Given the description of an element on the screen output the (x, y) to click on. 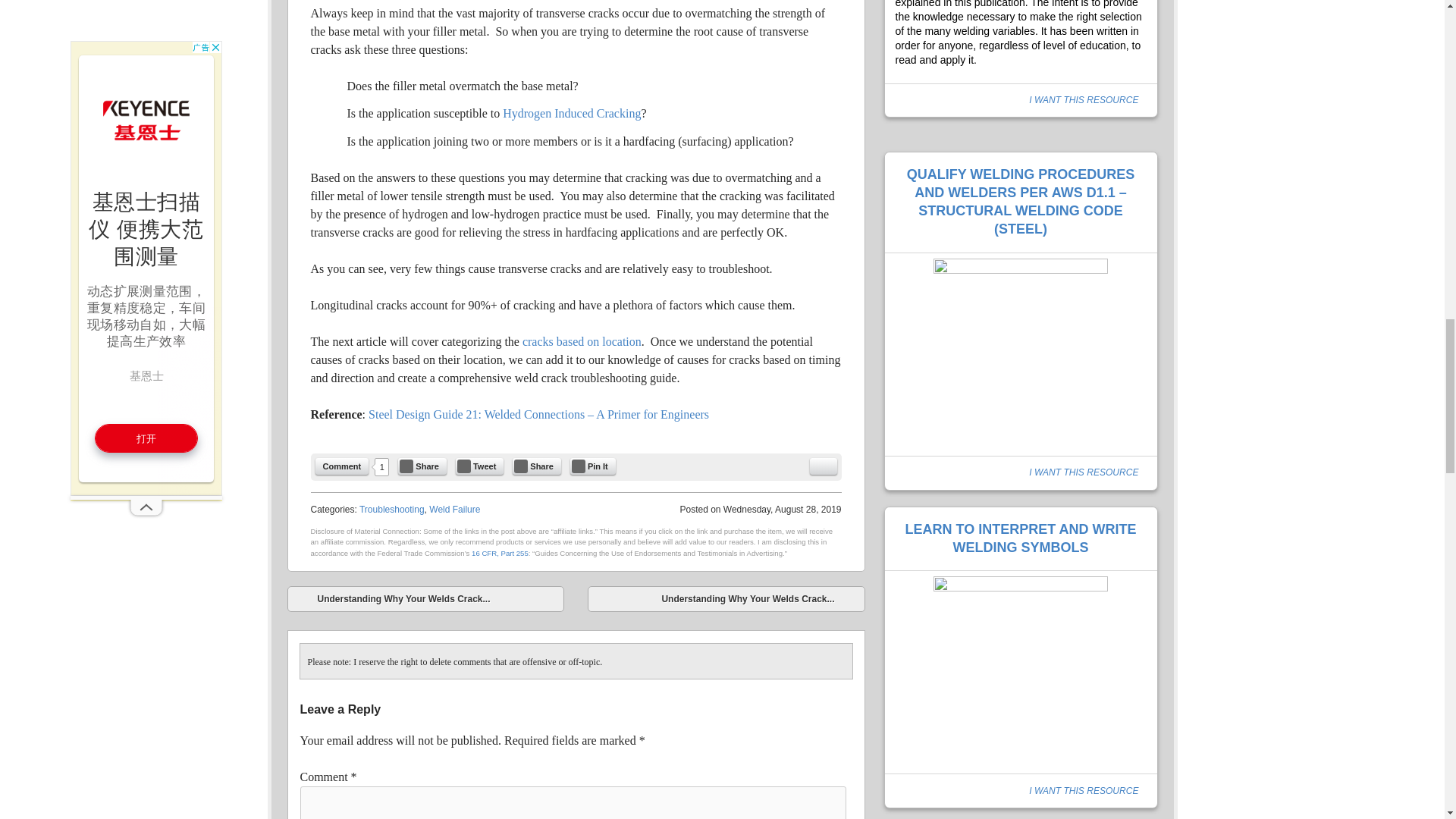
Share on LinkedIn (536, 466)
Comment (342, 466)
Share on Facebook (421, 466)
cracks based on location (580, 341)
Comment on this Post (342, 466)
Hydrogen Induced Cracking (571, 113)
Tweet this Post (479, 466)
